Given the description of an element on the screen output the (x, y) to click on. 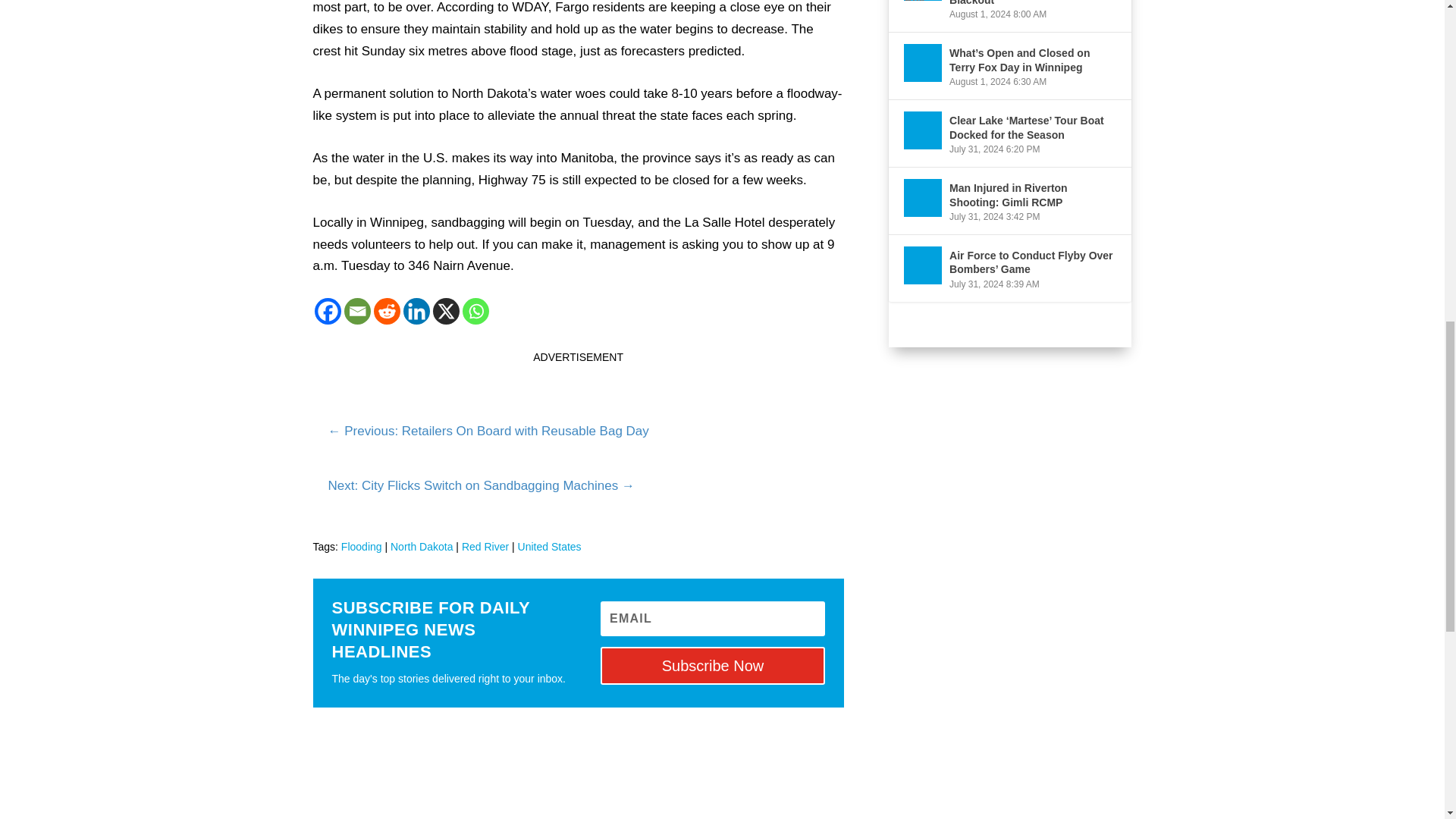
Facebook (327, 311)
Reddit (385, 311)
Whatsapp (476, 311)
Linkedin (416, 311)
Email (357, 311)
X (445, 311)
Man Injured in Riverton Shooting: Gimli RCMP (923, 198)
